Given the description of an element on the screen output the (x, y) to click on. 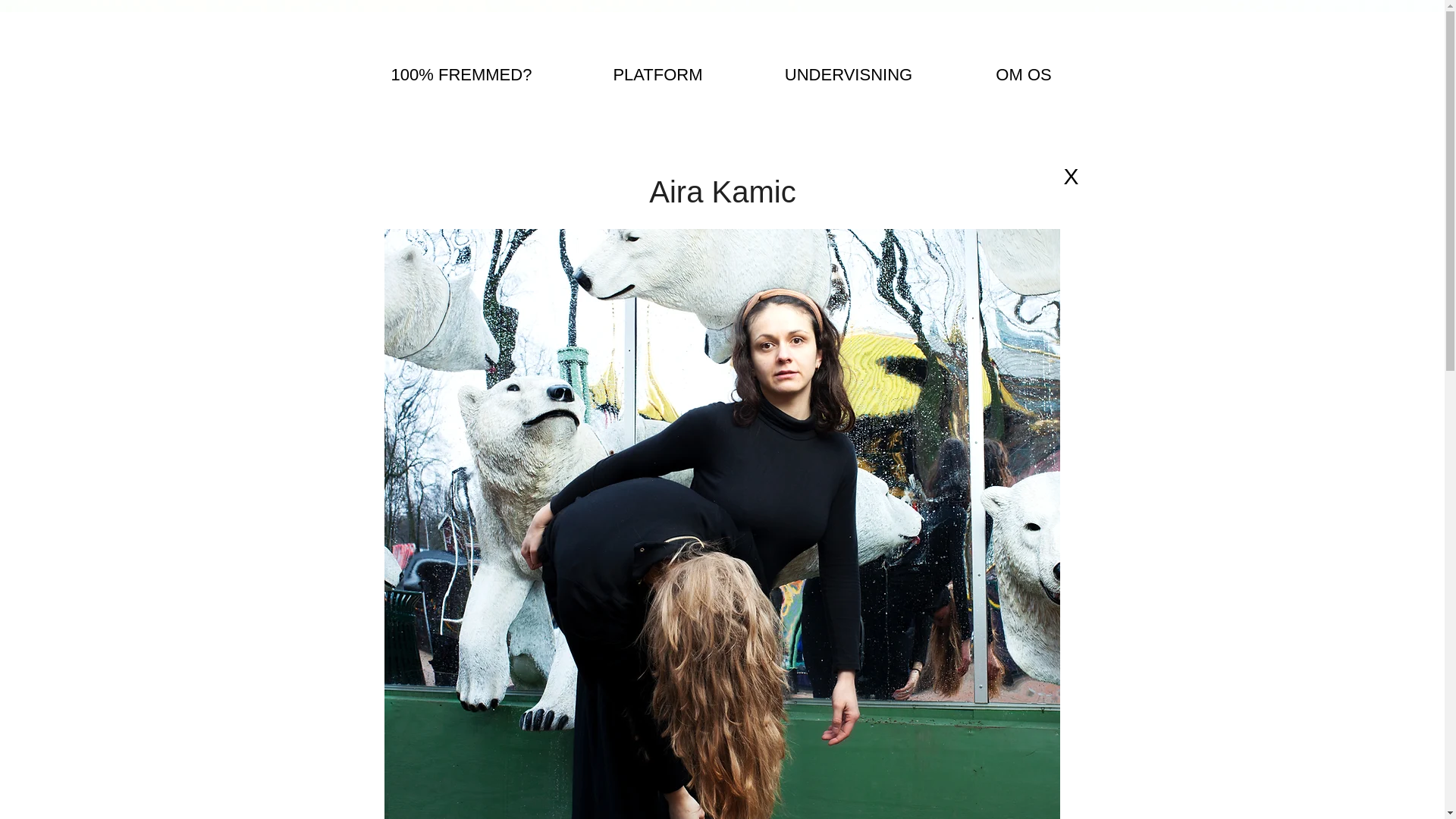
UNDERVISNING (847, 75)
PLATFORM (657, 75)
OM OS (1023, 75)
X (1070, 176)
